Given the description of an element on the screen output the (x, y) to click on. 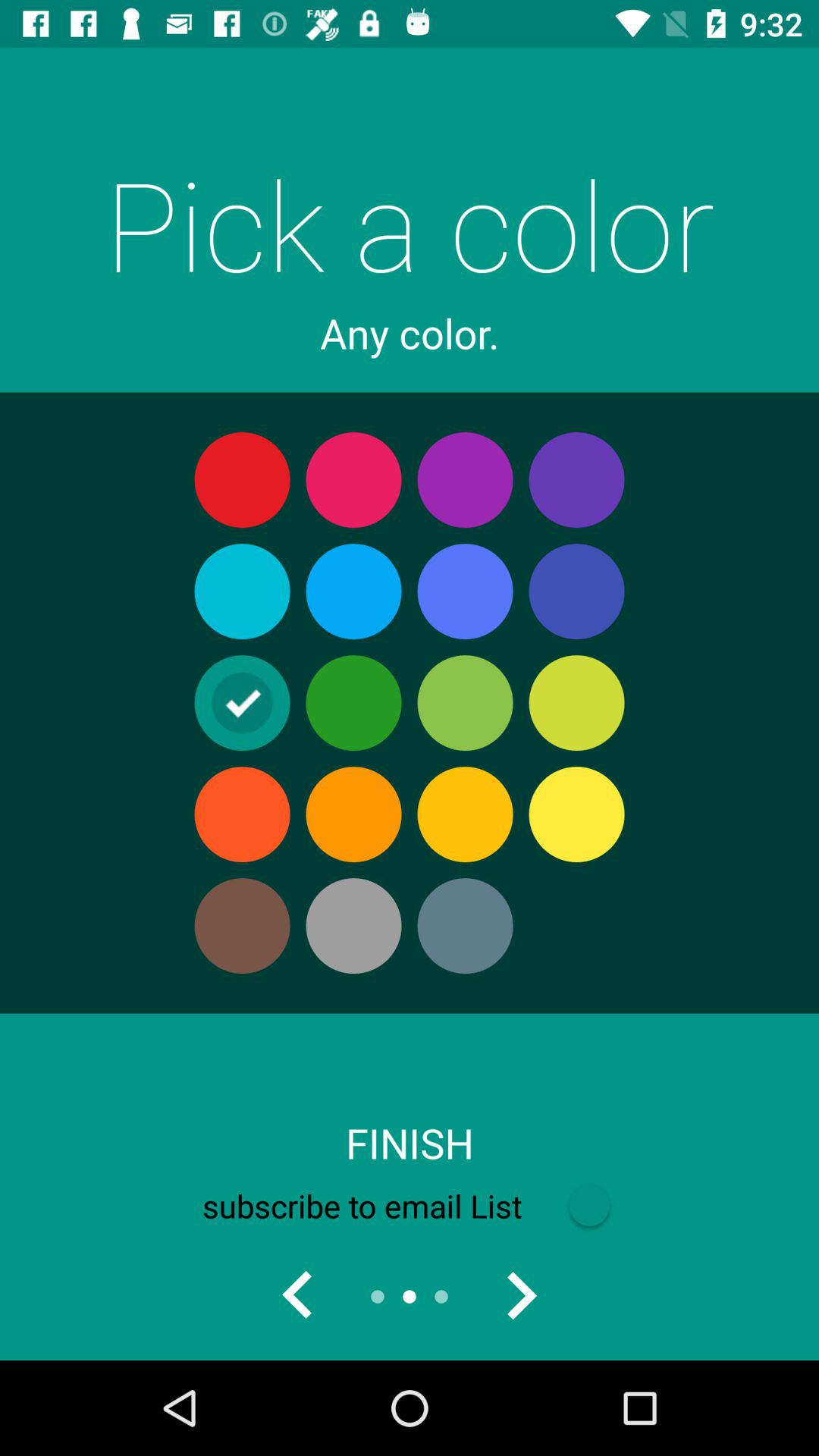
left most green color is checked (297, 1296)
